Given the description of an element on the screen output the (x, y) to click on. 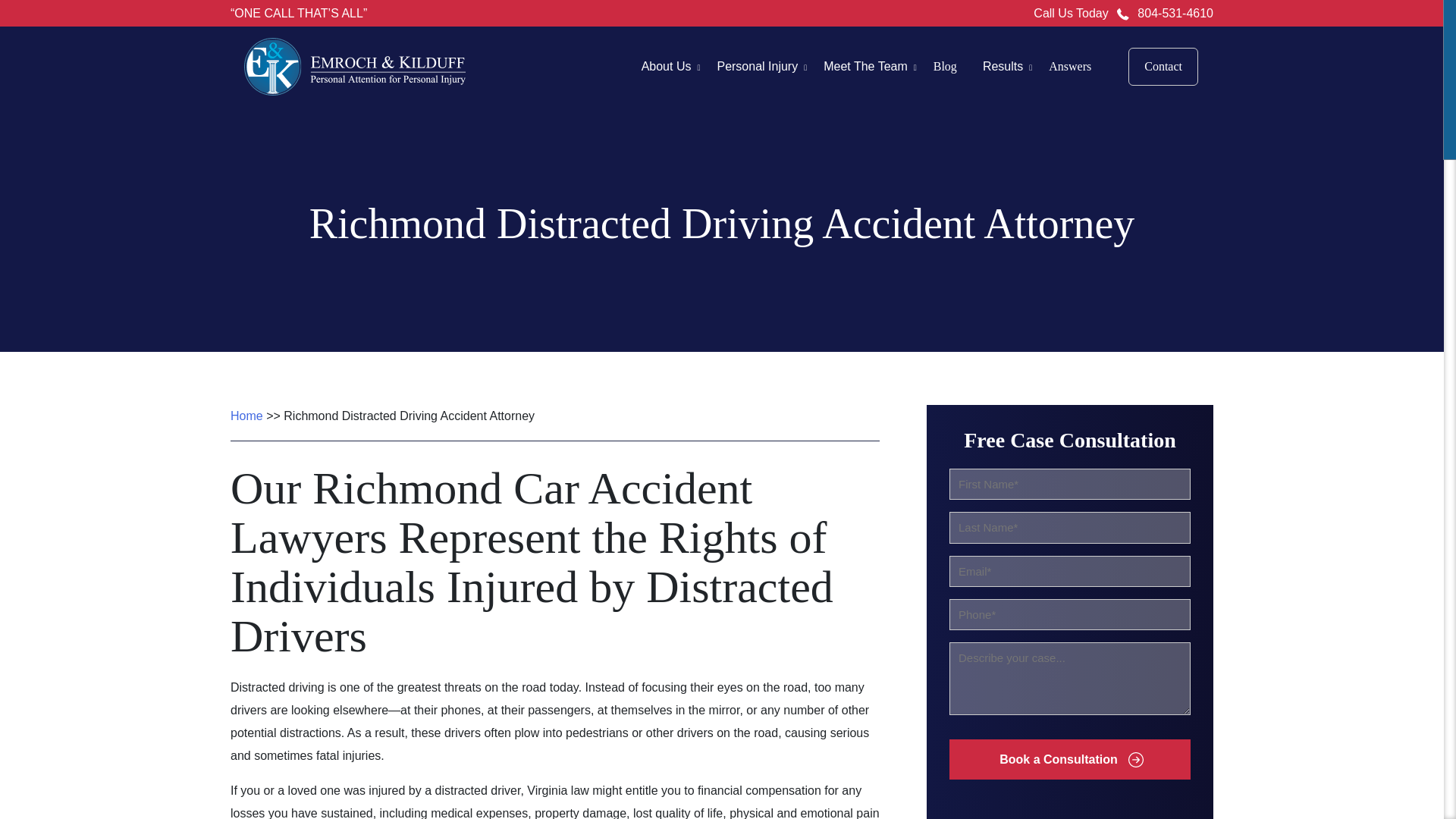
Home (246, 415)
Blog (944, 66)
About Us (666, 65)
Contact (1163, 66)
Book a Consultation (1070, 759)
Results (1002, 65)
804-531-4610 (1174, 12)
Answers (1069, 66)
Personal Injury (756, 65)
Meet The Team (865, 65)
